Given the description of an element on the screen output the (x, y) to click on. 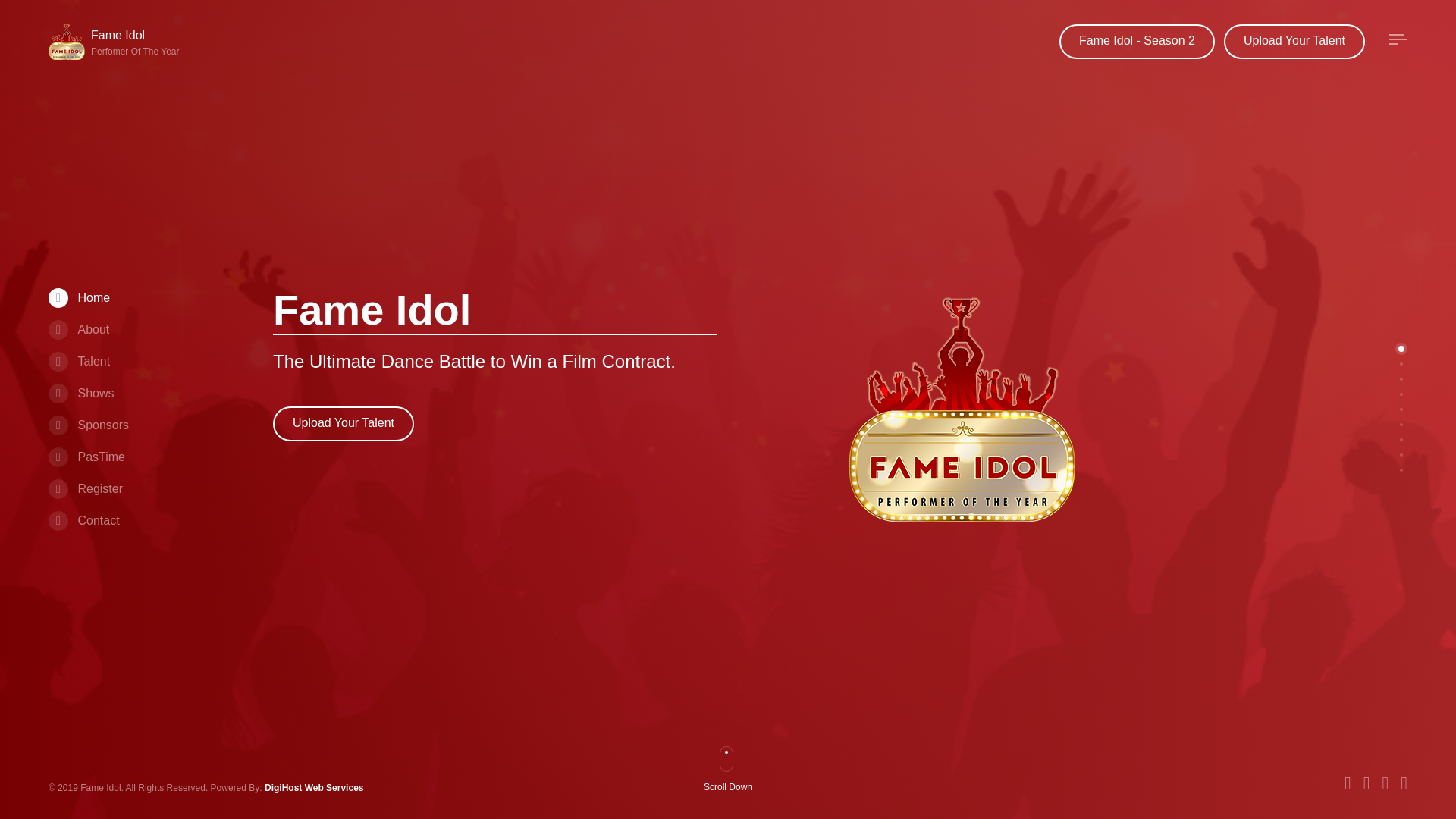
Contact (83, 520)
Fame Idol - Season 2 (1136, 41)
Talent (79, 360)
Shows (117, 42)
About (80, 392)
Scroll Down (78, 328)
Upload Your Talent (733, 788)
Sponsors (343, 423)
Scroll Down (88, 424)
